Given the description of an element on the screen output the (x, y) to click on. 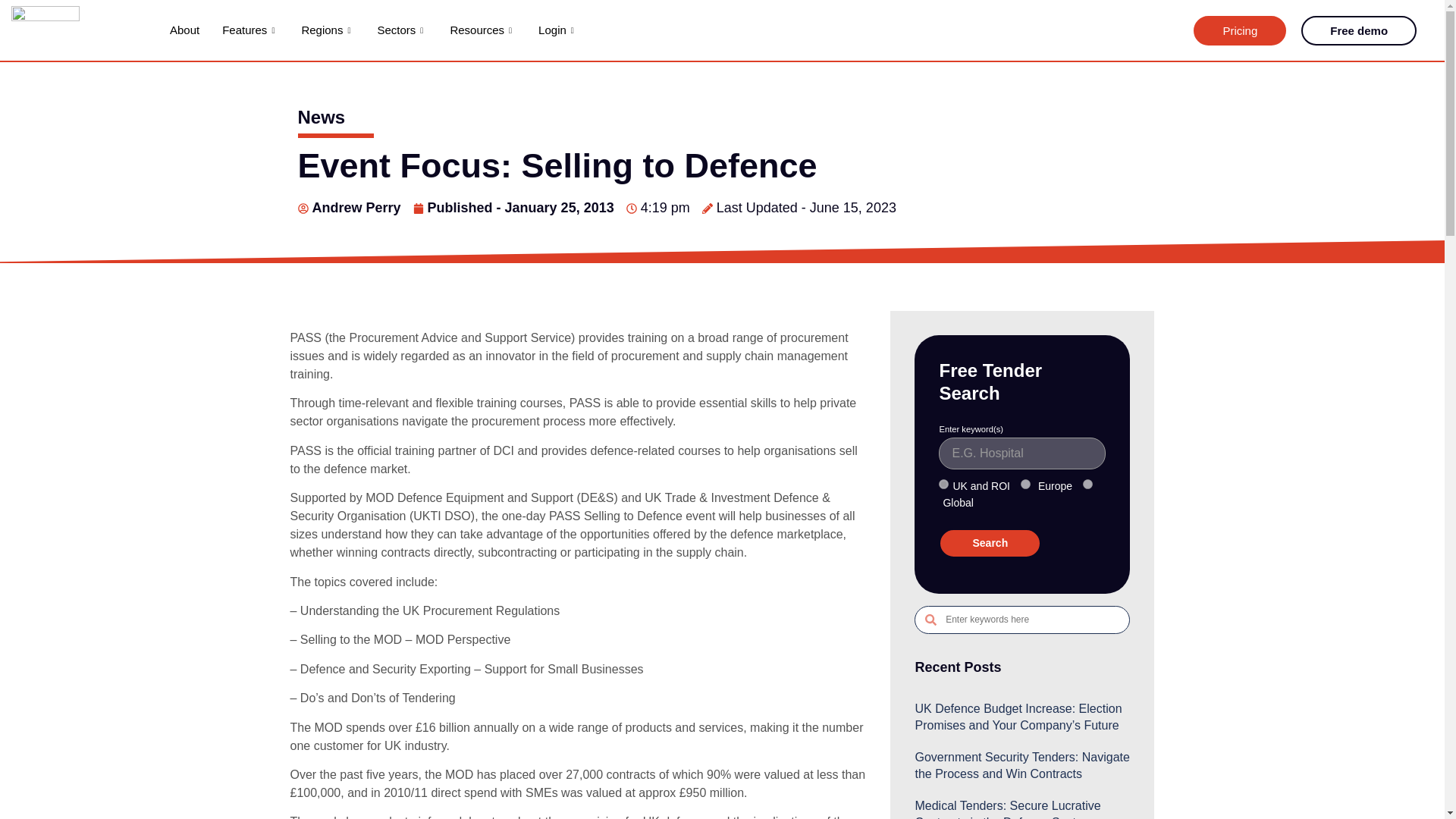
Regions (327, 30)
Europe (1025, 483)
Search (990, 542)
Global (1088, 483)
Features (250, 30)
E.G. Hospital (1022, 453)
GBandIE (944, 483)
E.G. Hospital (1022, 453)
